Given the description of an element on the screen output the (x, y) to click on. 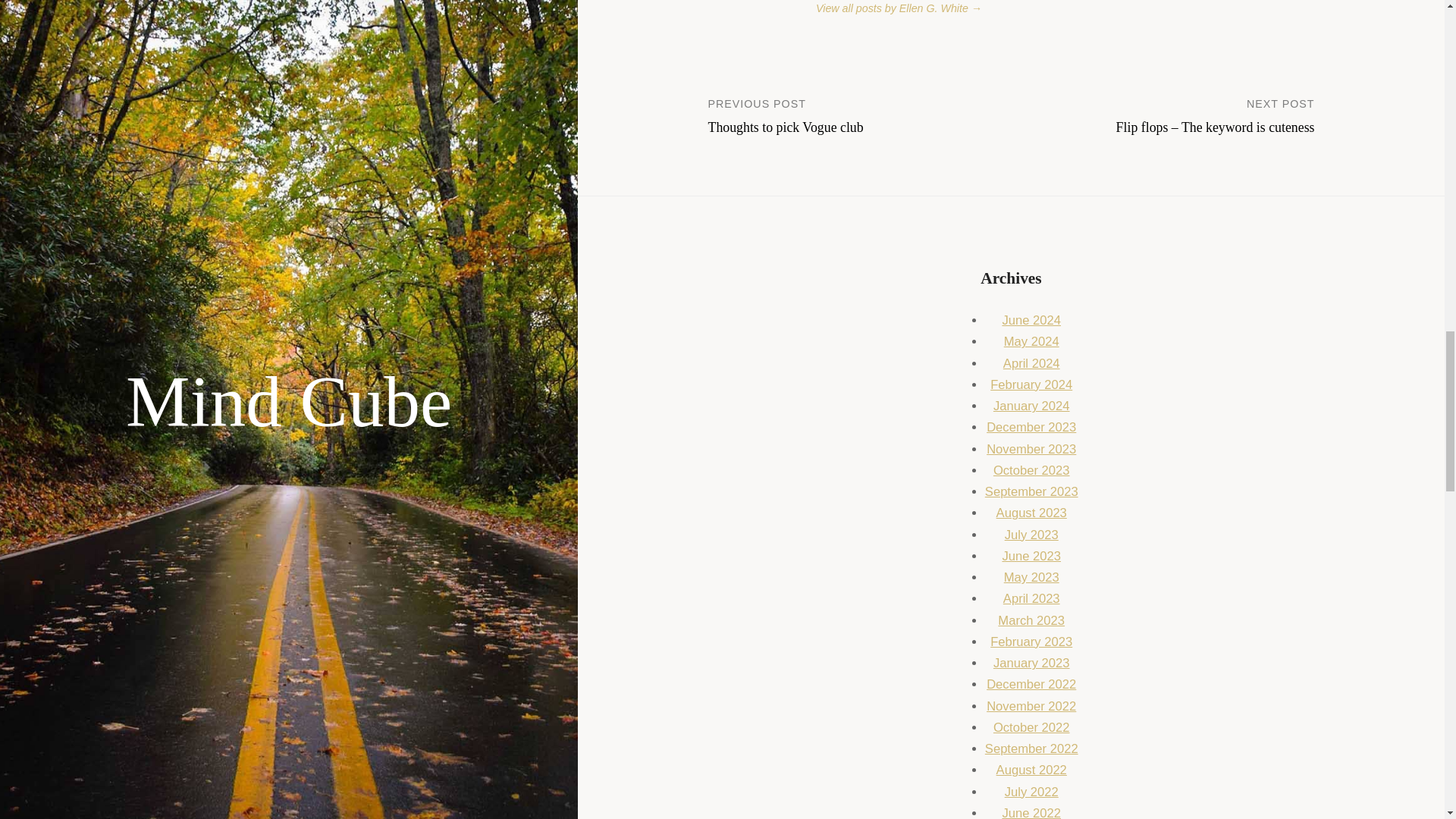
May 2024 (1031, 341)
May 2023 (1031, 577)
October 2023 (1031, 470)
February 2024 (1030, 384)
January 2024 (1031, 405)
March 2023 (859, 115)
December 2022 (1030, 620)
April 2024 (1031, 684)
July 2023 (1031, 363)
